Given the description of an element on the screen output the (x, y) to click on. 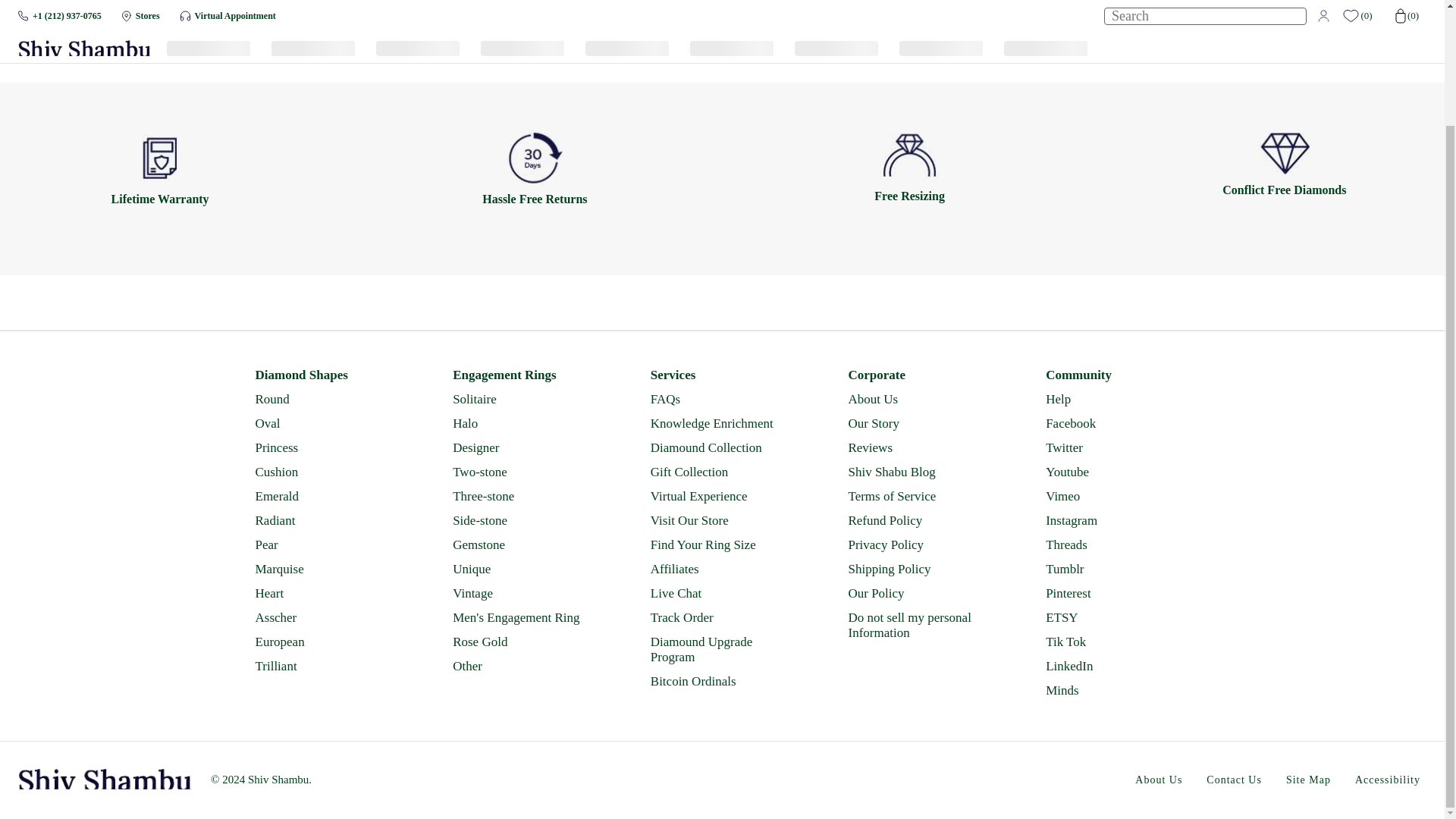
European (325, 642)
Vintage (523, 593)
Engagement Rings (523, 375)
Pear (325, 544)
Heart (325, 593)
Solitaire (523, 399)
Three-stone (523, 496)
Gemstone (523, 544)
Shop All Diamonds (720, 31)
Trilliant (325, 666)
Marquise (325, 569)
Two-stone (523, 472)
Diamond Shapes (325, 375)
Shiv Shambu (104, 779)
Side-stone (523, 520)
